Given the description of an element on the screen output the (x, y) to click on. 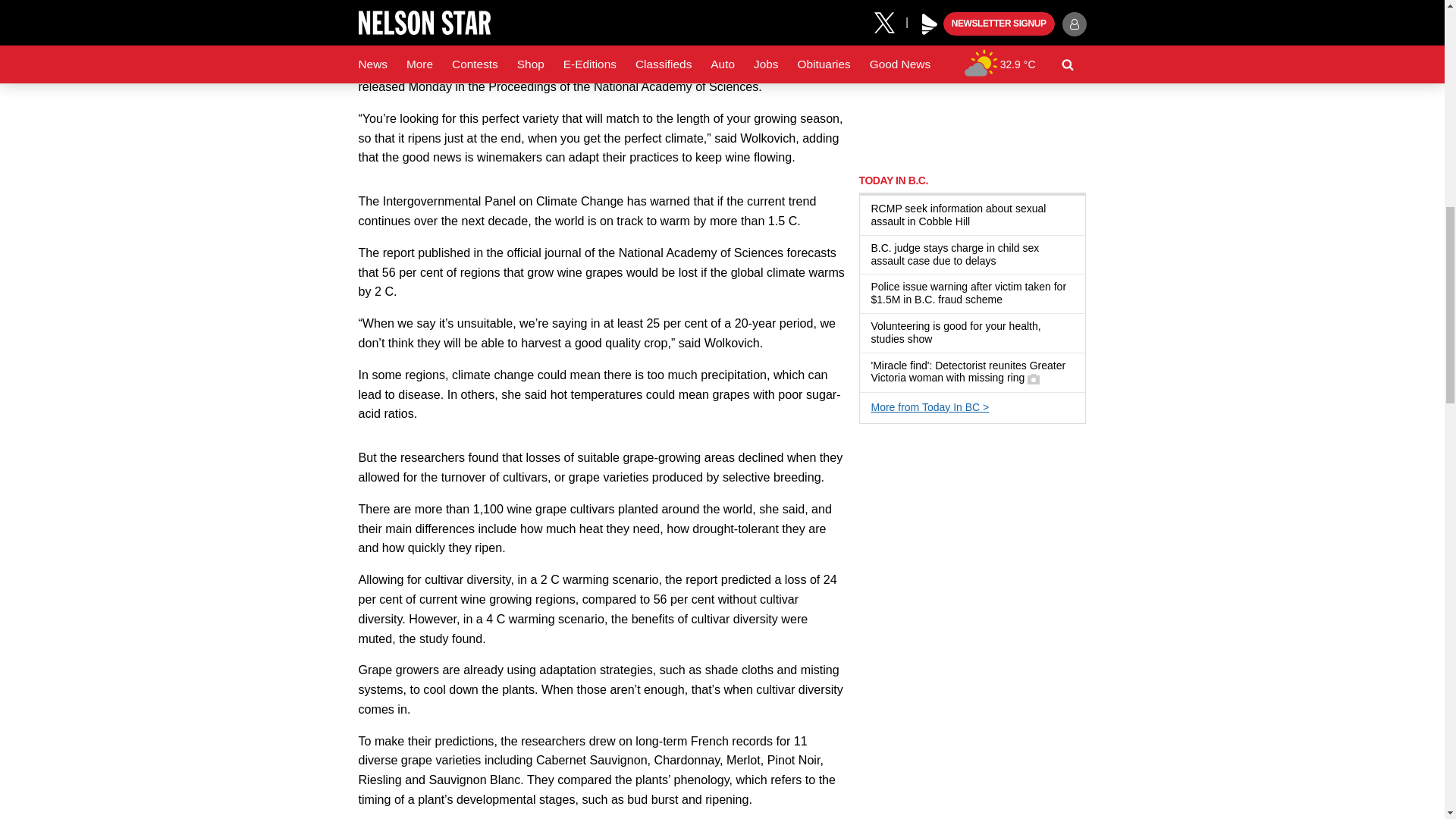
Has a gallery (1033, 378)
